Given the description of an element on the screen output the (x, y) to click on. 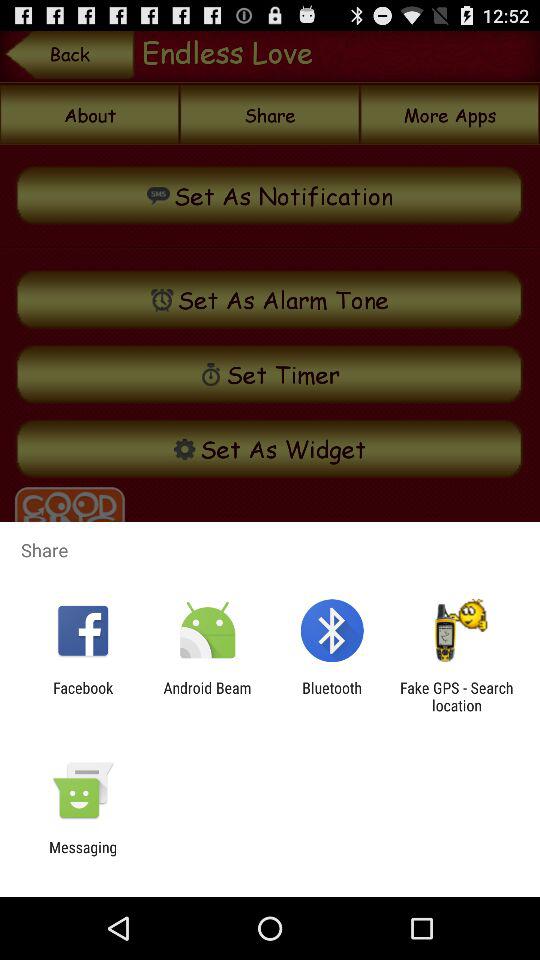
turn on the item to the right of the bluetooth (456, 696)
